Given the description of an element on the screen output the (x, y) to click on. 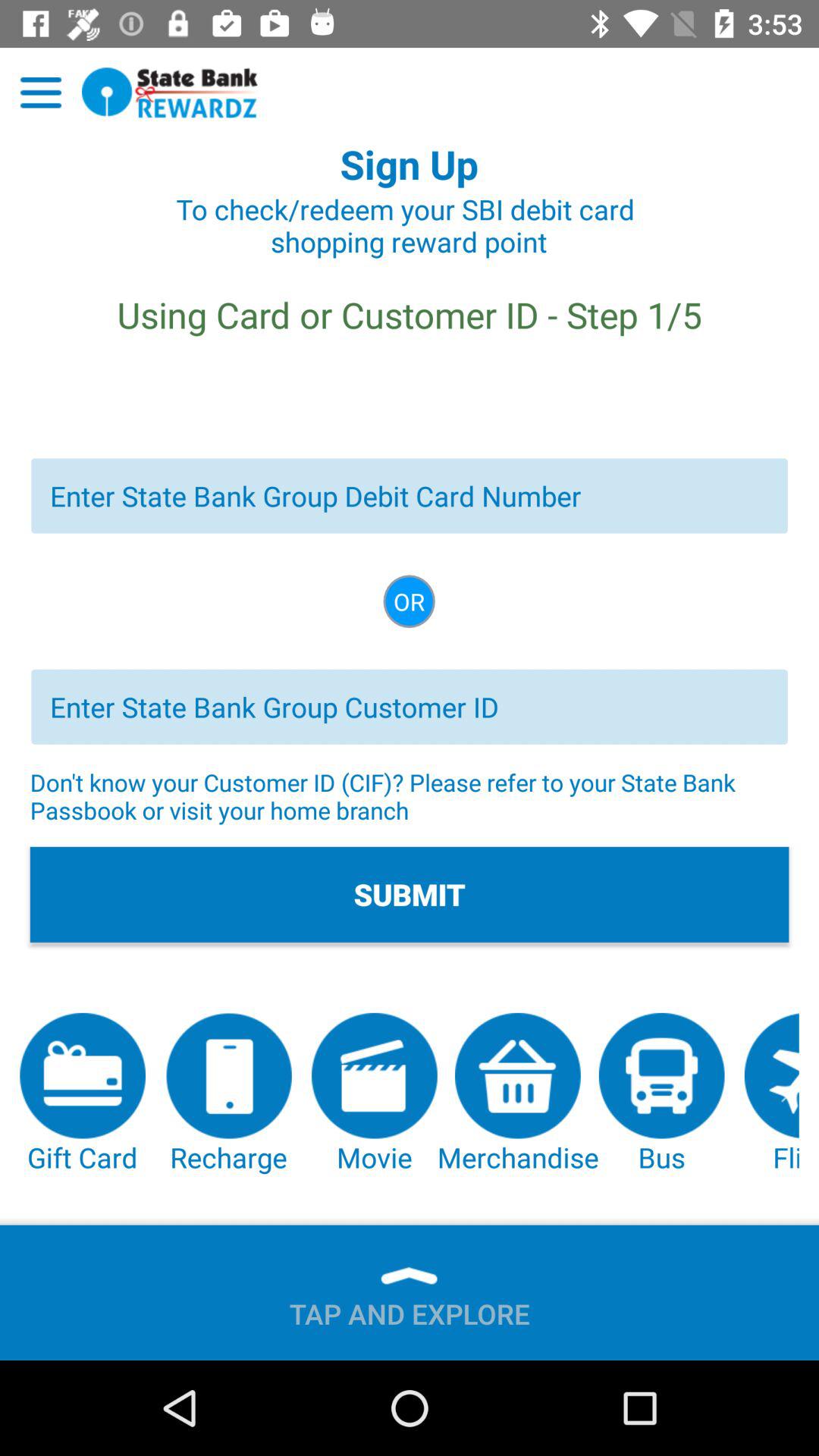
open item below the submit button (771, 1094)
